Given the description of an element on the screen output the (x, y) to click on. 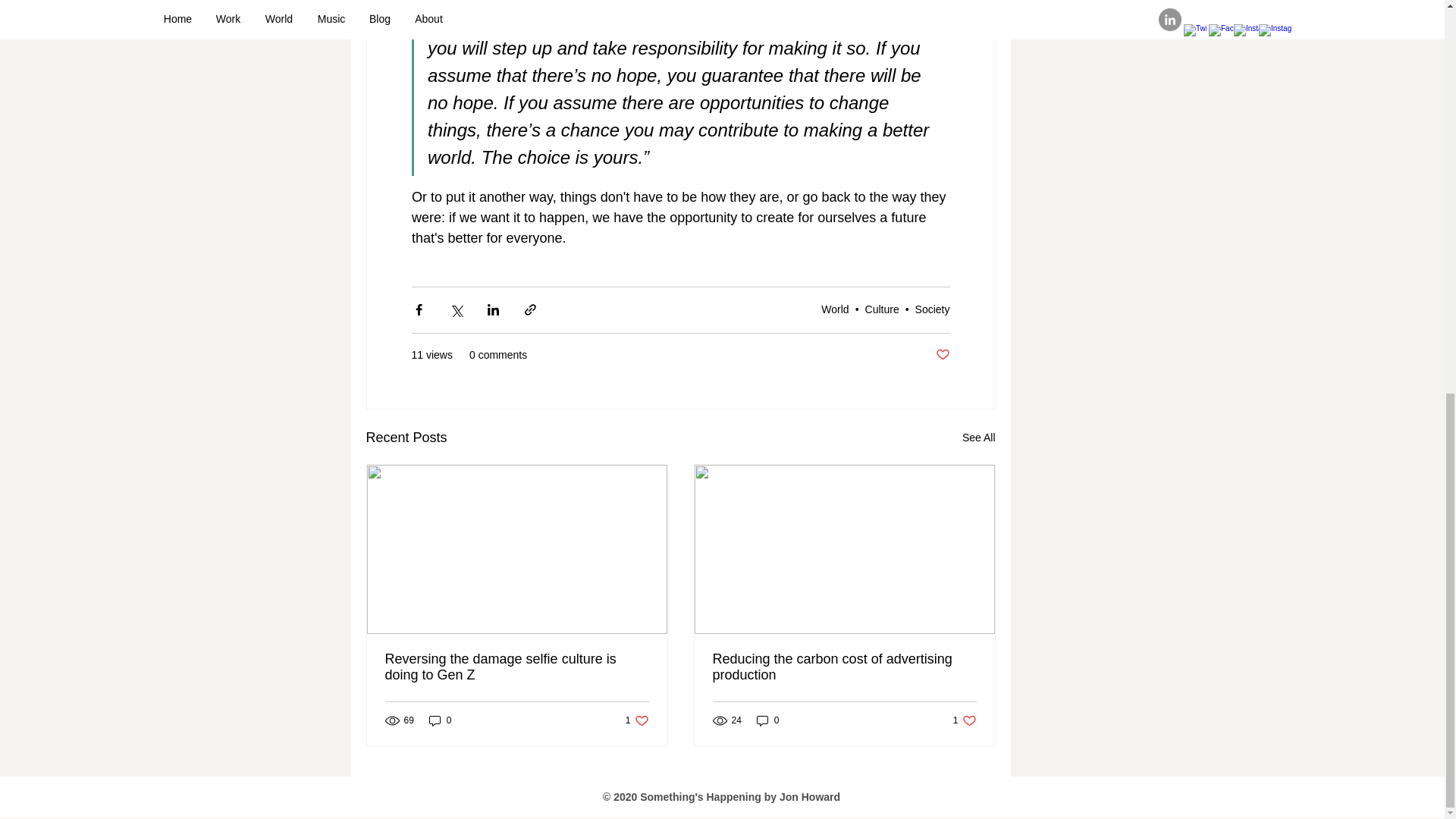
Reversing the damage selfie culture is doing to Gen Z (517, 667)
0 (440, 720)
Culture (637, 720)
World (881, 309)
See All (834, 309)
Society (978, 437)
Post not marked as liked (932, 309)
